Given the description of an element on the screen output the (x, y) to click on. 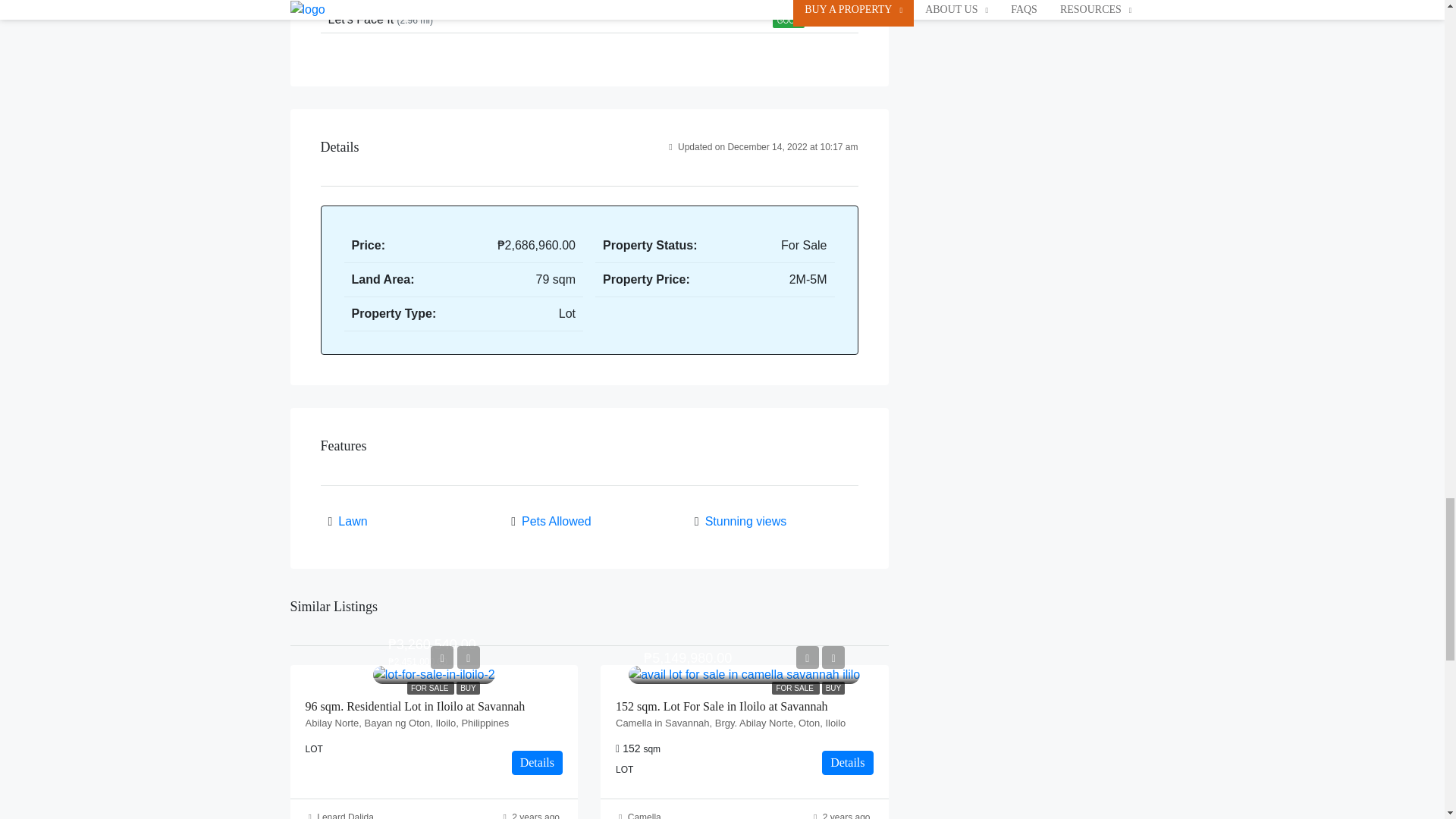
Add to Compare (833, 657)
Preview (441, 657)
Preview (807, 657)
Add to Compare (468, 657)
